Given the description of an element on the screen output the (x, y) to click on. 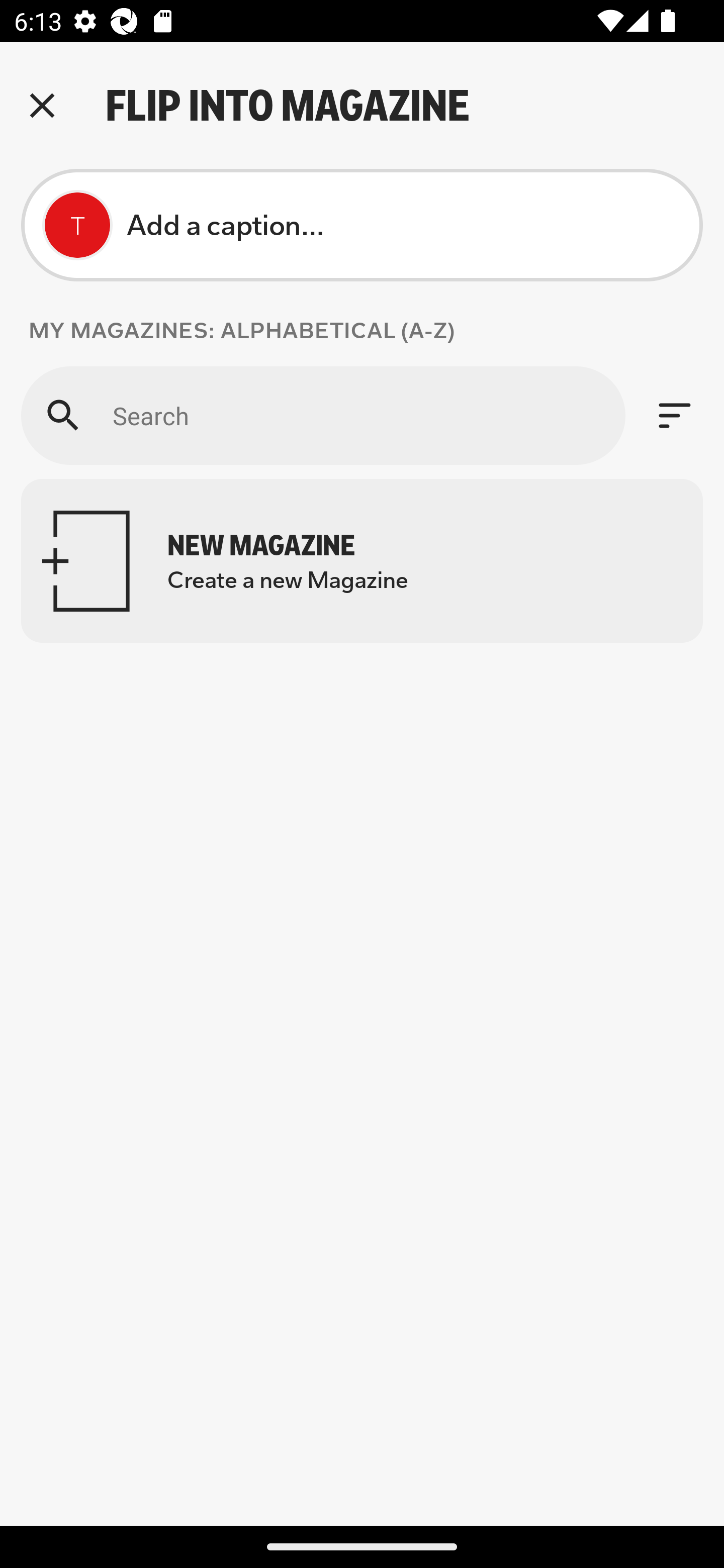
Test Appium Add a caption… (361, 224)
Search (322, 415)
NEW MAGAZINE Create a new Magazine (361, 560)
